Given the description of an element on the screen output the (x, y) to click on. 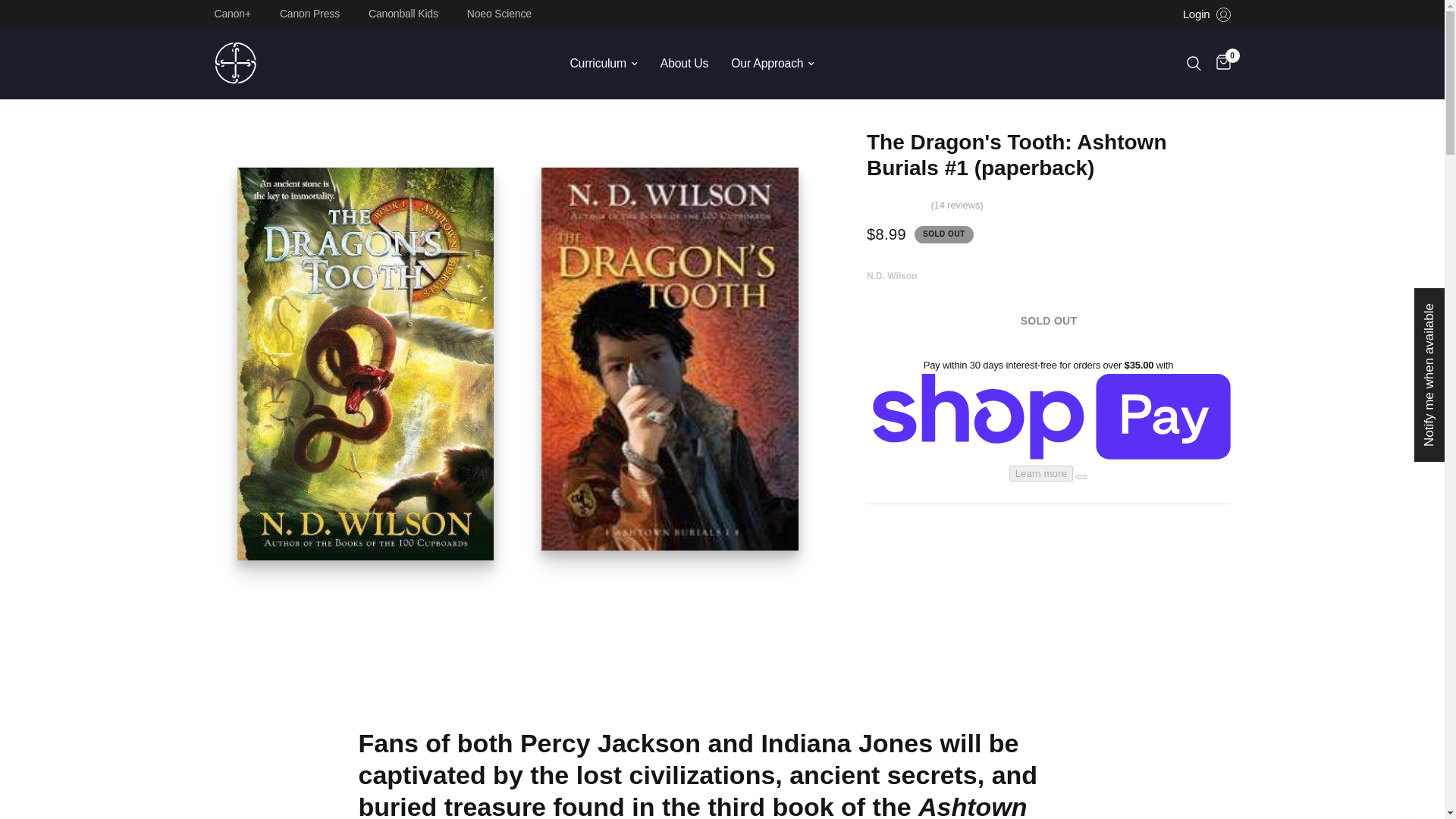
Canonball Kids (406, 13)
Noeo Science (502, 13)
Login (1206, 13)
Canon Press (313, 13)
